Given the description of an element on the screen output the (x, y) to click on. 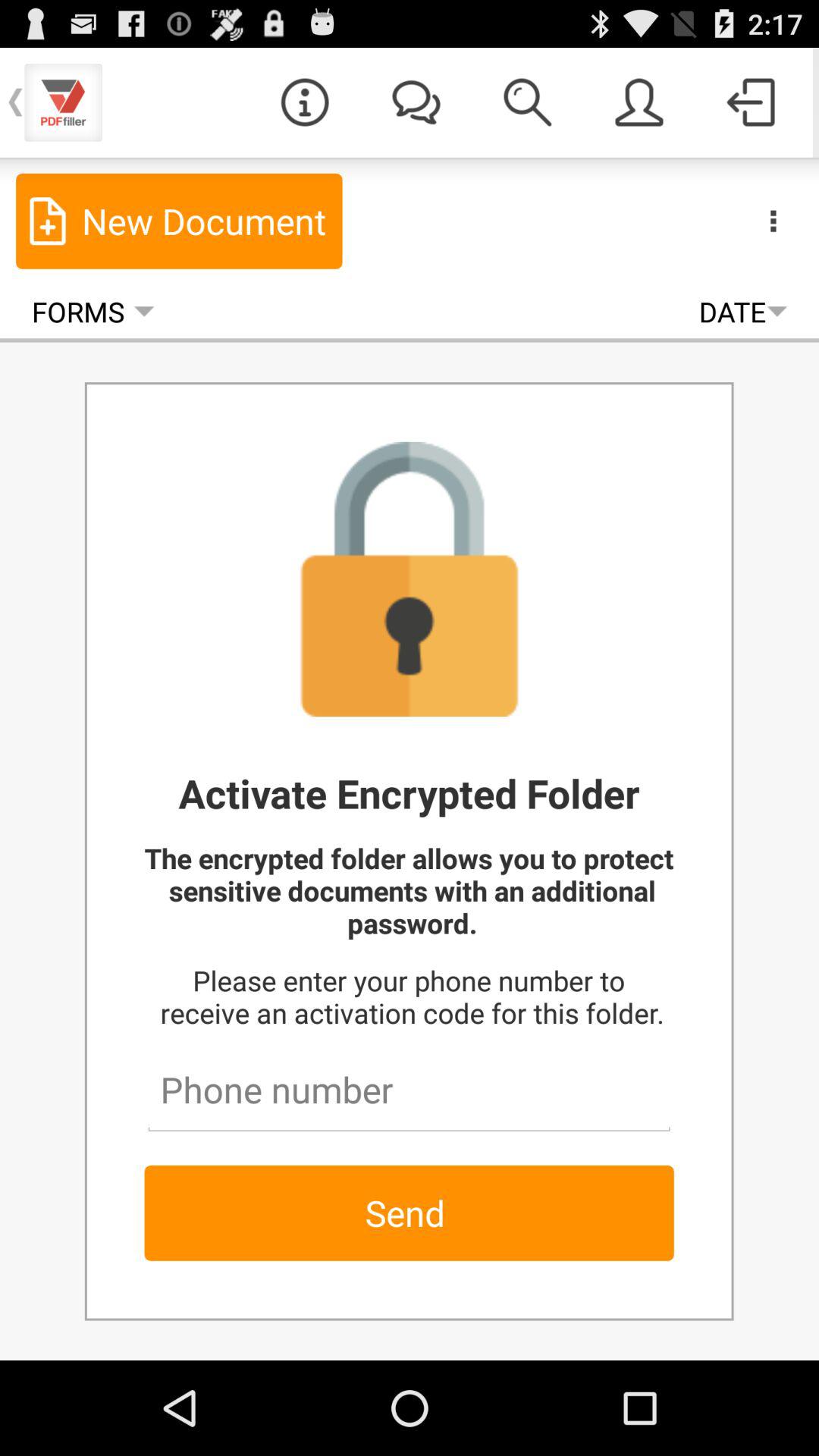
enter your phone number (408, 1083)
